Given the description of an element on the screen output the (x, y) to click on. 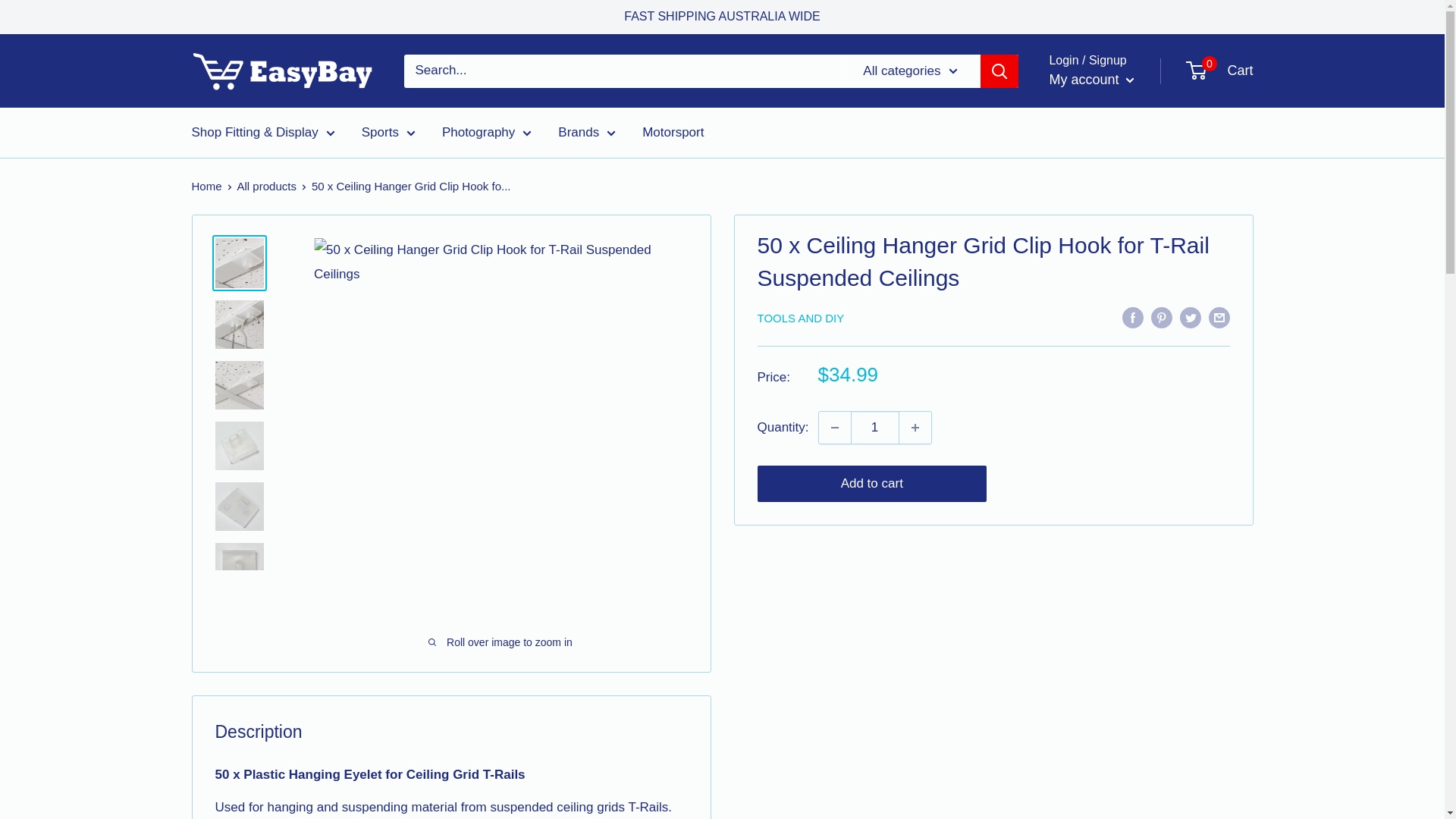
Increase quantity by 1 (915, 427)
FAST SHIPPING AUSTRALIA WIDE (721, 16)
1 (874, 427)
Easy Bay (281, 70)
My account (1091, 80)
Decrease quantity by 1 (834, 427)
